Given the description of an element on the screen output the (x, y) to click on. 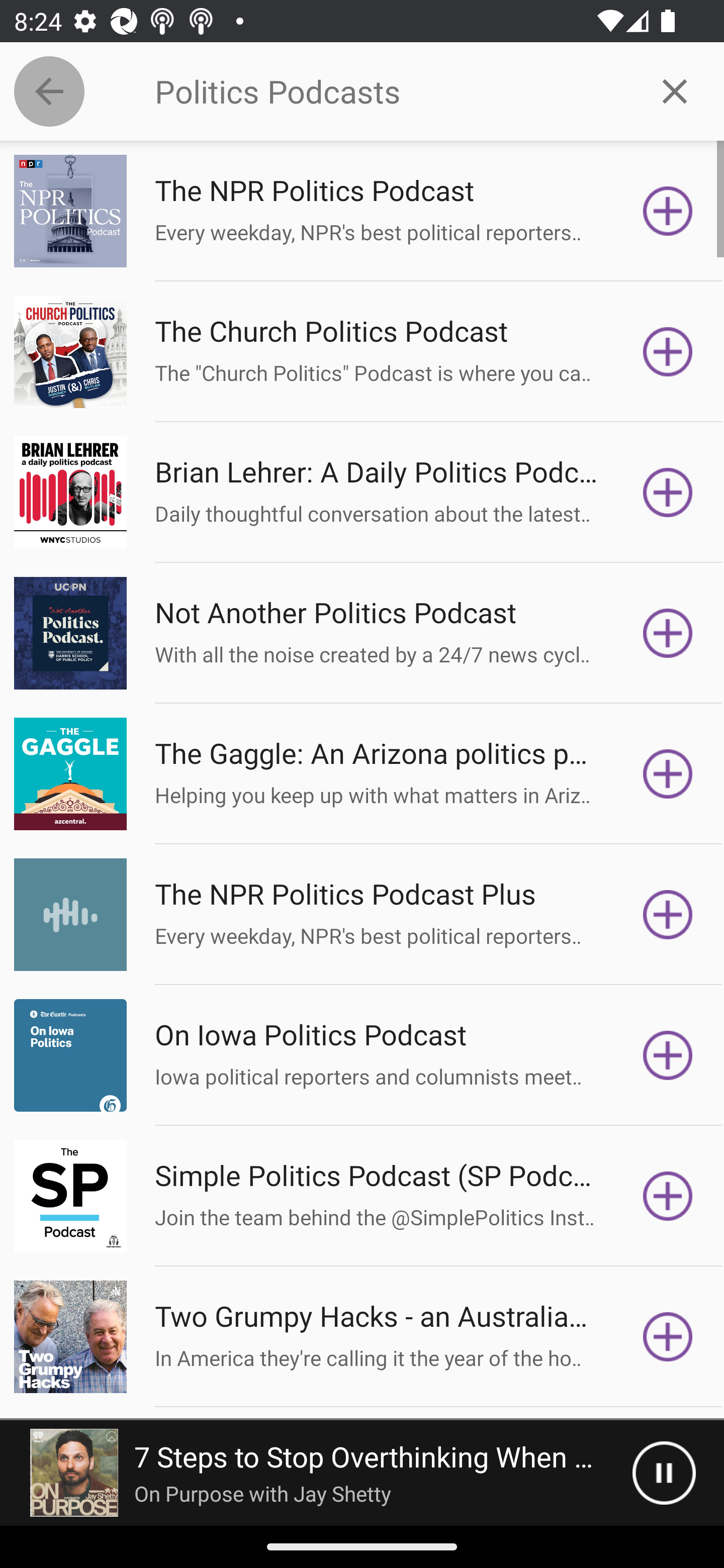
Collapse (49, 91)
Clear query (674, 90)
Politics Podcasts (389, 91)
Subscribe (667, 211)
Subscribe (667, 350)
Subscribe (667, 491)
Subscribe (667, 633)
Subscribe (667, 773)
Subscribe (667, 913)
Subscribe (667, 1054)
Subscribe (667, 1195)
Subscribe (667, 1336)
Pause (663, 1472)
